Given the description of an element on the screen output the (x, y) to click on. 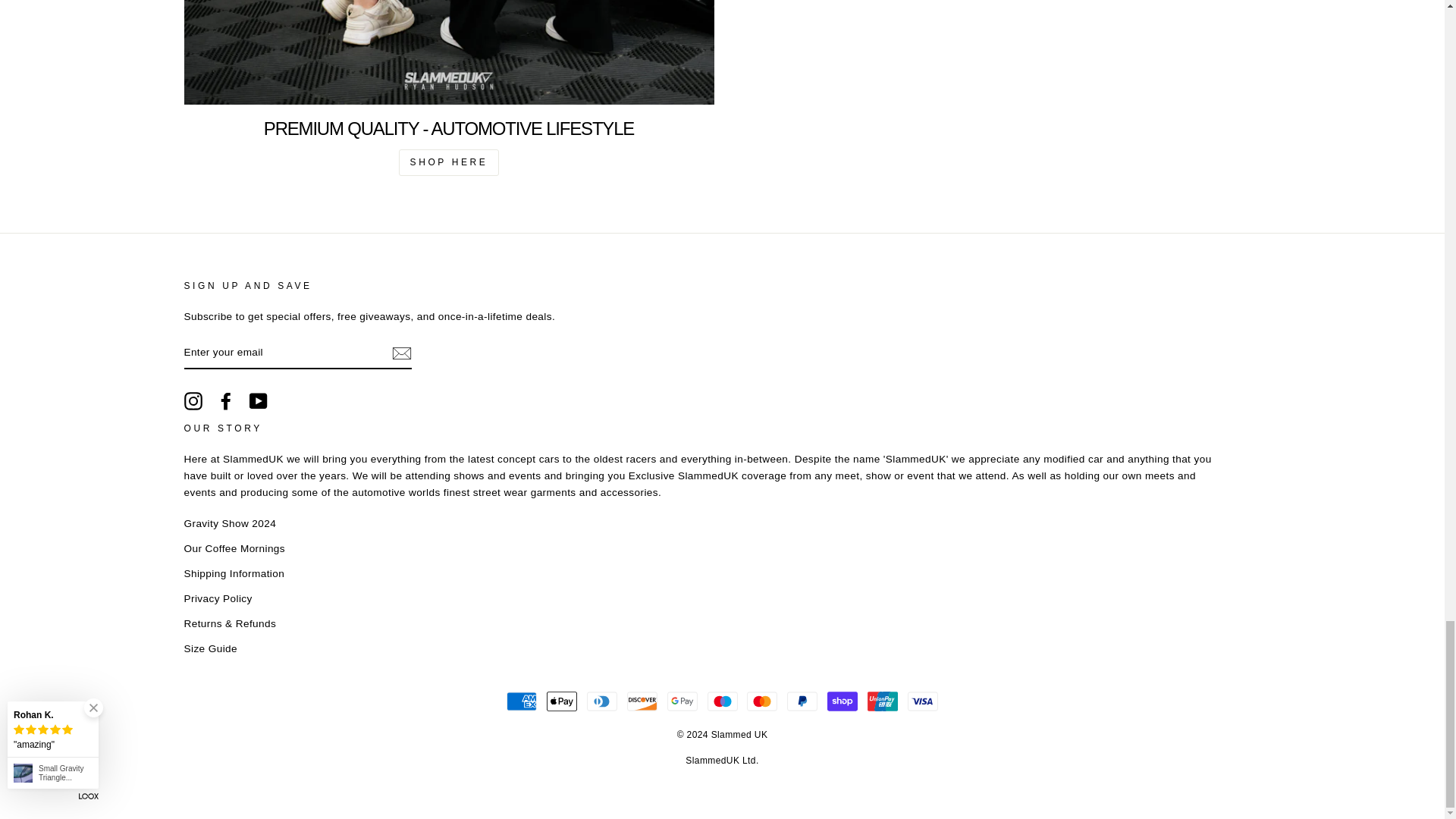
Slammed UK on Facebook (225, 401)
Slammed UK on YouTube (257, 401)
Slammed UK on Instagram (192, 401)
